Given the description of an element on the screen output the (x, y) to click on. 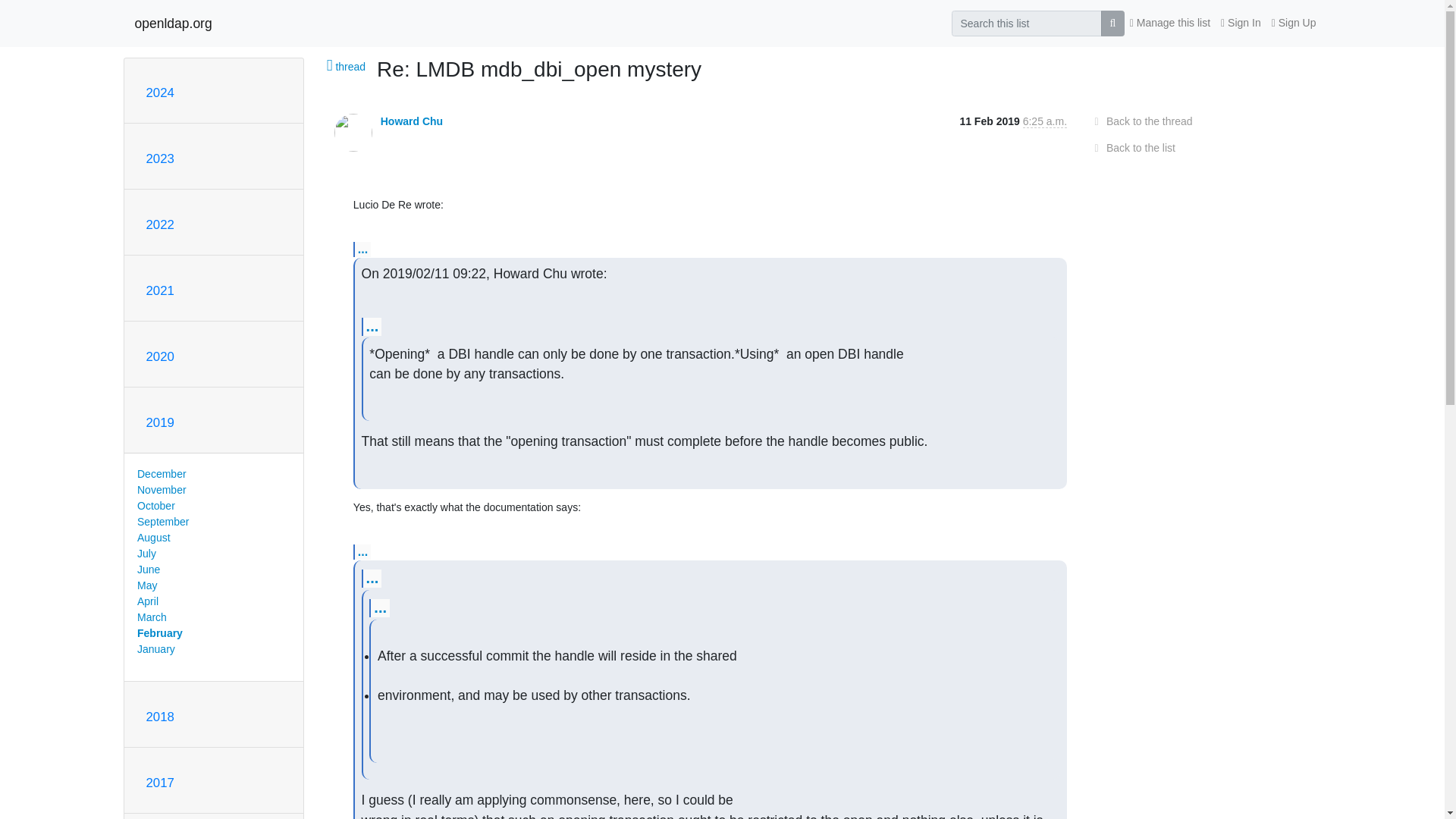
See the profile for Howard Chu (411, 121)
Sign Up (1294, 22)
2022 (159, 224)
Sender's time: Feb. 11, 2019, 2:25 p.m. (1045, 121)
Sign In (1240, 22)
Manage this list (1169, 22)
2024 (159, 92)
2023 (159, 158)
openldap.org (173, 22)
